Given the description of an element on the screen output the (x, y) to click on. 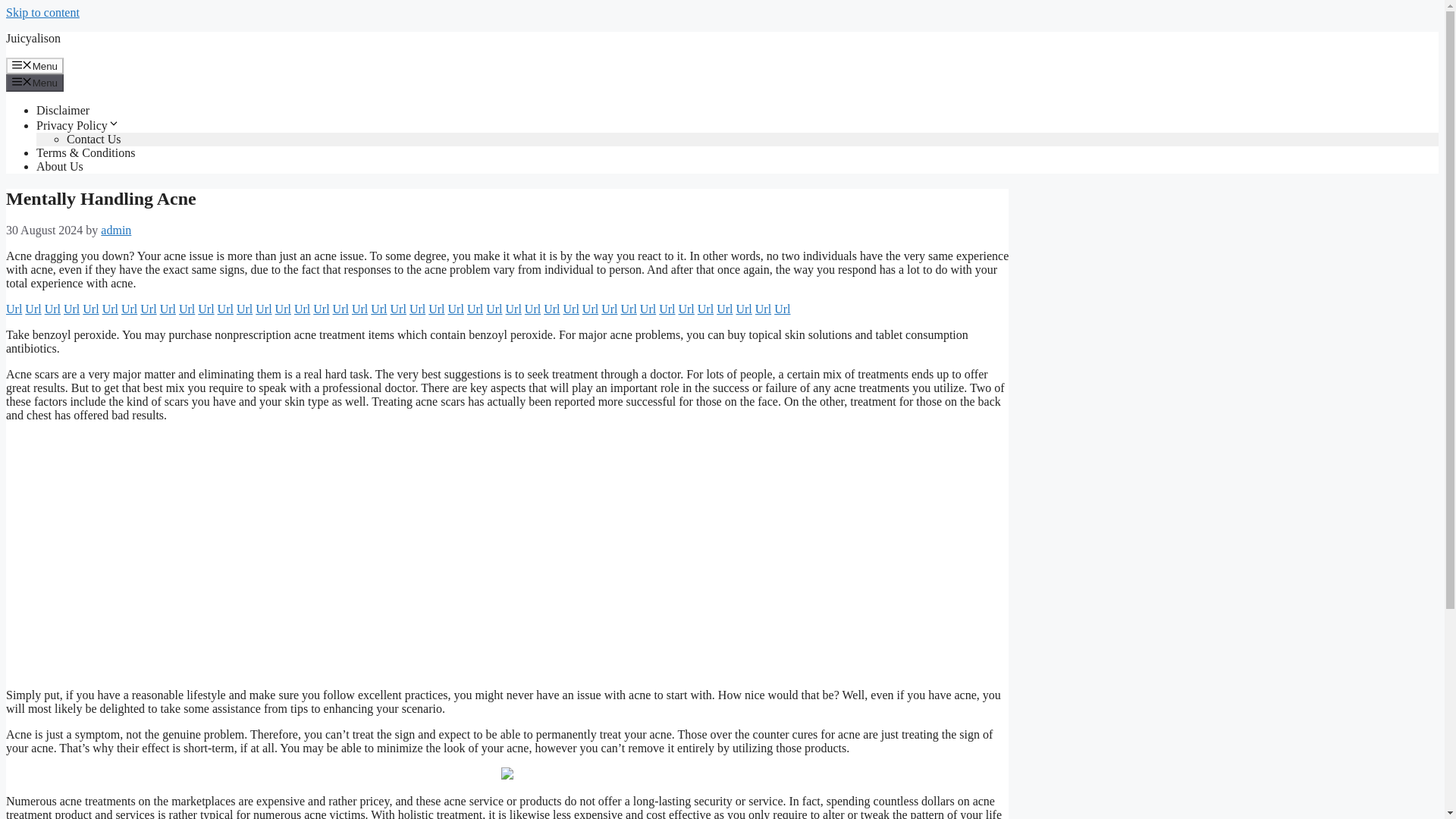
Url (283, 308)
Url (187, 308)
Url (360, 308)
Menu (34, 82)
Url (224, 308)
Url (72, 308)
Url (168, 308)
Url (571, 308)
Url (398, 308)
Url (532, 308)
